Given the description of an element on the screen output the (x, y) to click on. 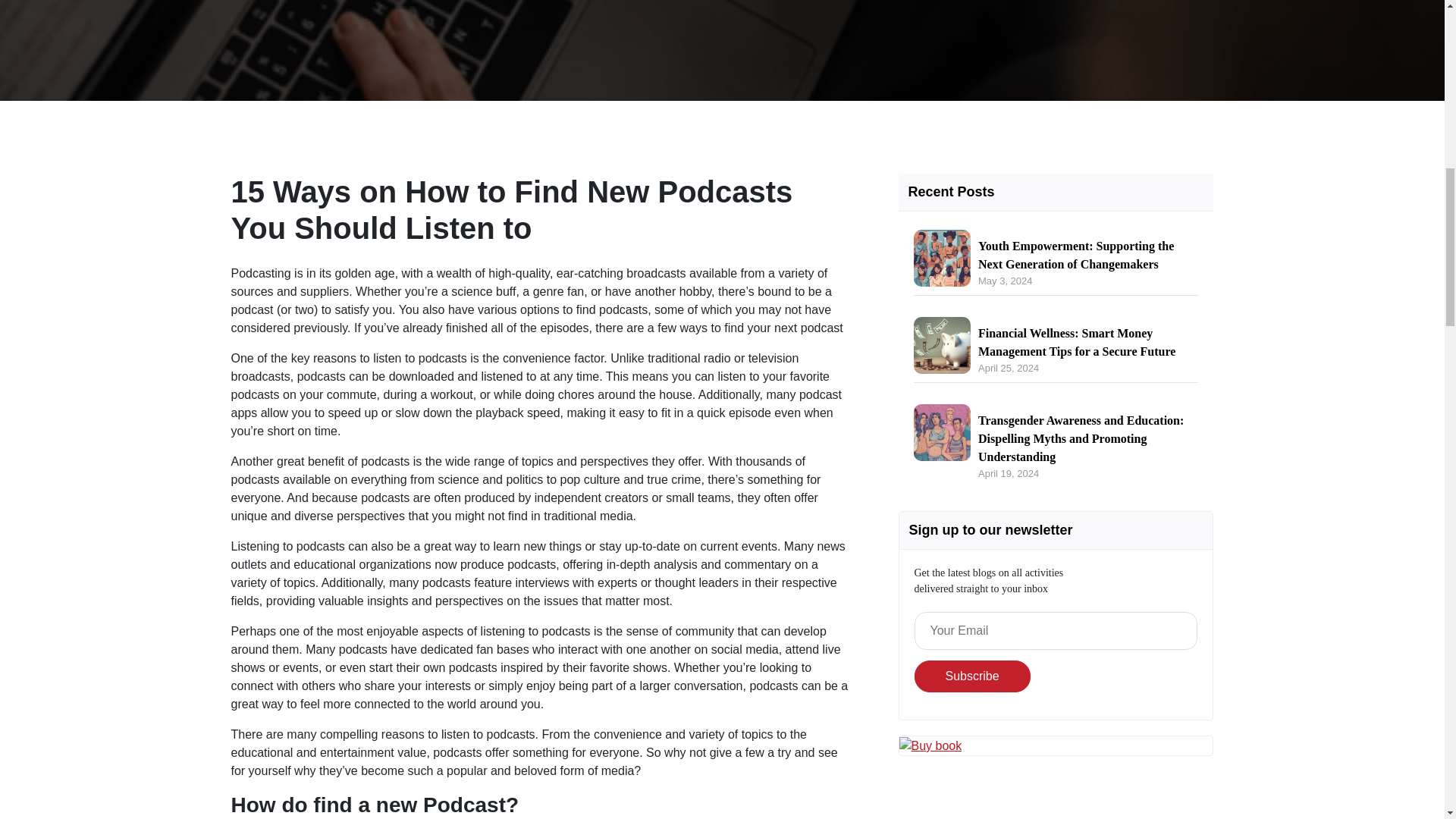
Subscribe (972, 676)
Subscribe (972, 676)
